Given the description of an element on the screen output the (x, y) to click on. 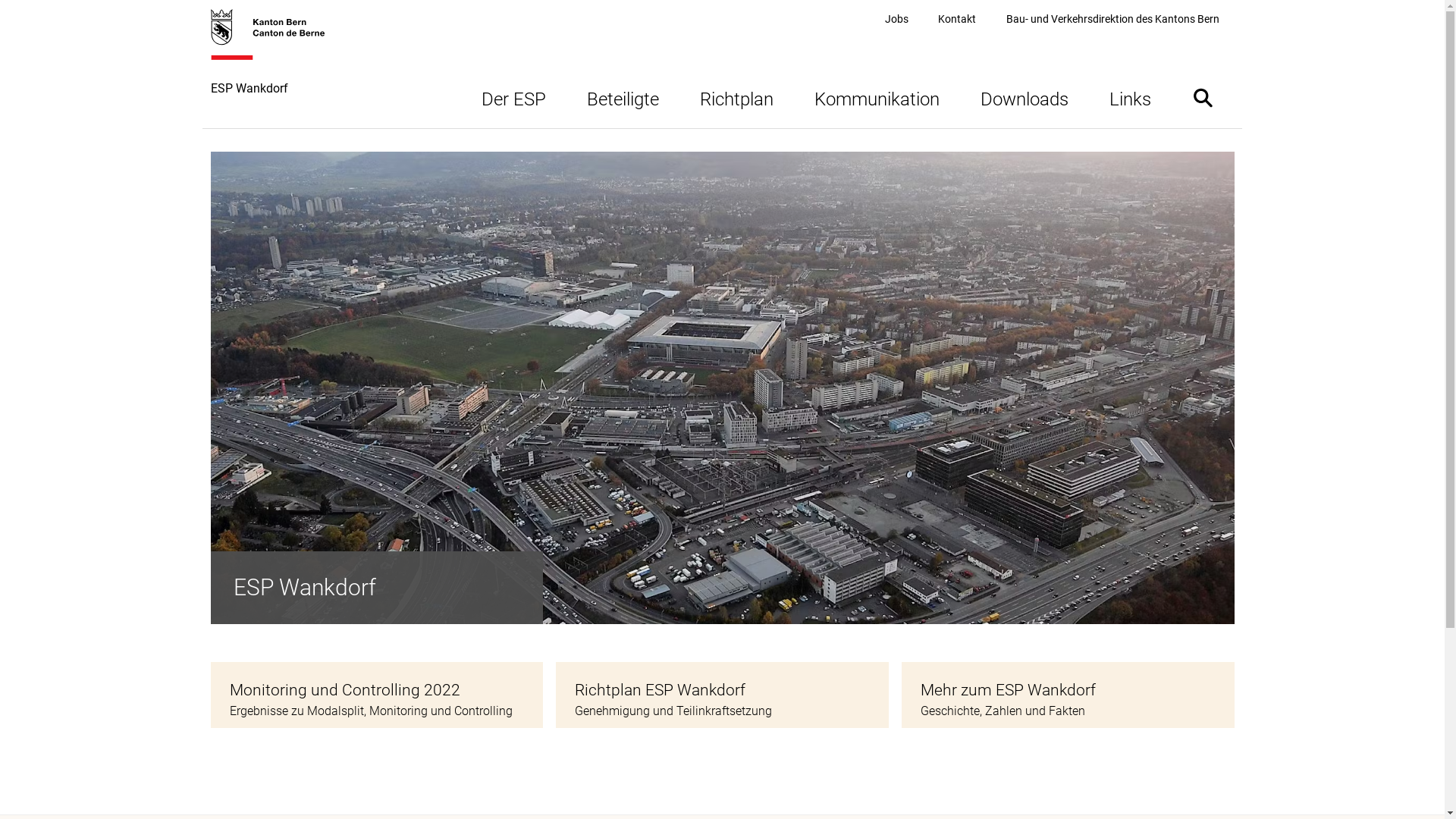
Richtplan Element type: text (736, 96)
Suche ein- oder ausblenden Element type: text (1201, 96)
Kontakt Element type: text (956, 19)
Richtplan ESP Wankdorf
Genehmigung und Teilinkraftsetzung Element type: text (721, 695)
Der ESP Element type: text (513, 96)
Mehr zum ESP Wankdorf
Geschichte, Zahlen und Fakten Element type: text (1067, 695)
Bau- und Verkehrsdirektion des Kantons Bern Element type: text (1112, 19)
Downloads Element type: text (1024, 96)
Kommunikation Element type: text (876, 96)
ESP Wankdorf Element type: text (275, 68)
Links Element type: text (1129, 96)
Jobs Element type: text (896, 19)
Beteiligte Element type: text (621, 96)
